Given the description of an element on the screen output the (x, y) to click on. 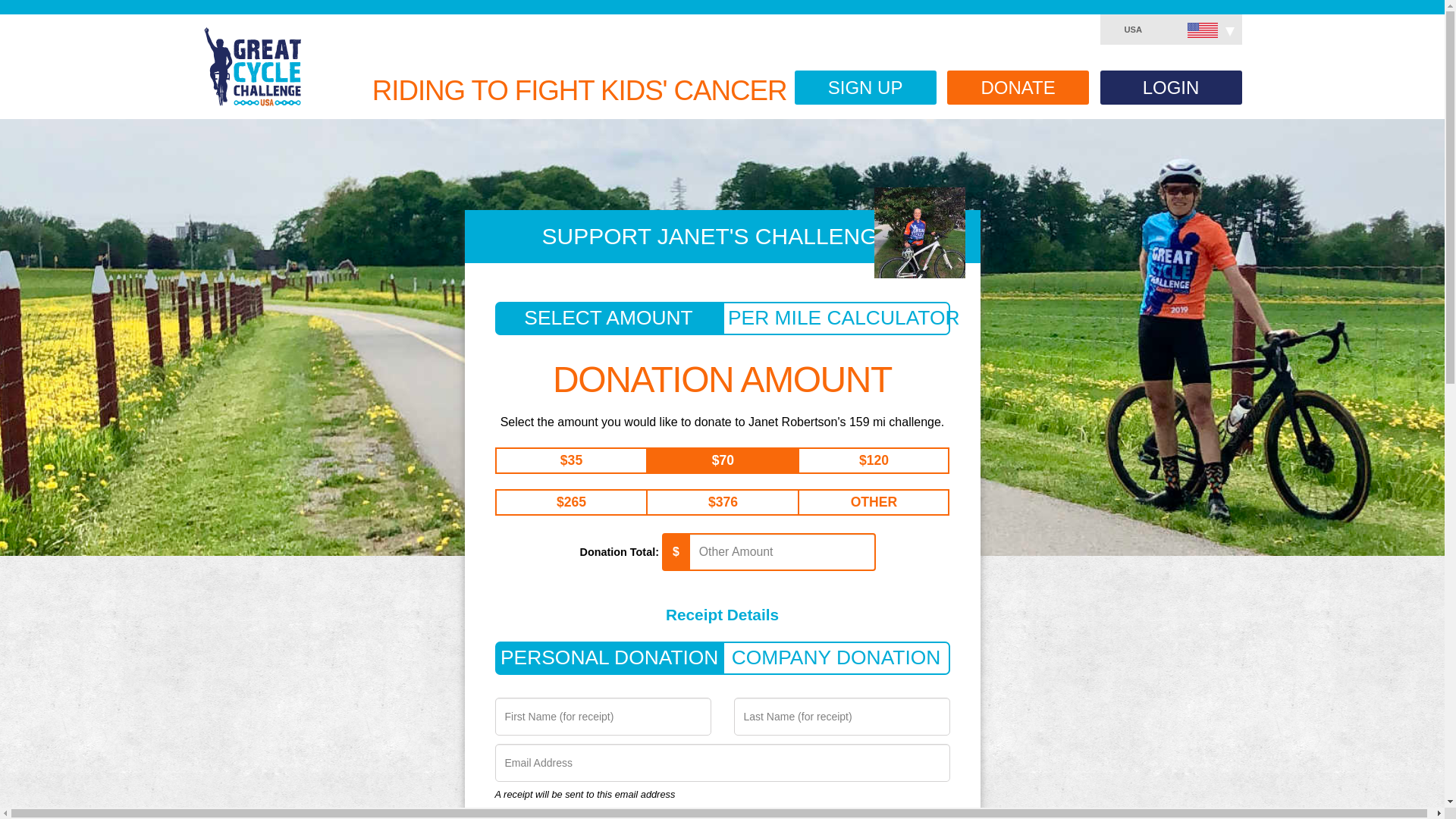
35 (565, 459)
265 (561, 501)
true (454, 760)
Great Cycle Challenge USA (252, 66)
70 (716, 459)
376.00 (712, 501)
0 (855, 501)
120 (864, 459)
